Given the description of an element on the screen output the (x, y) to click on. 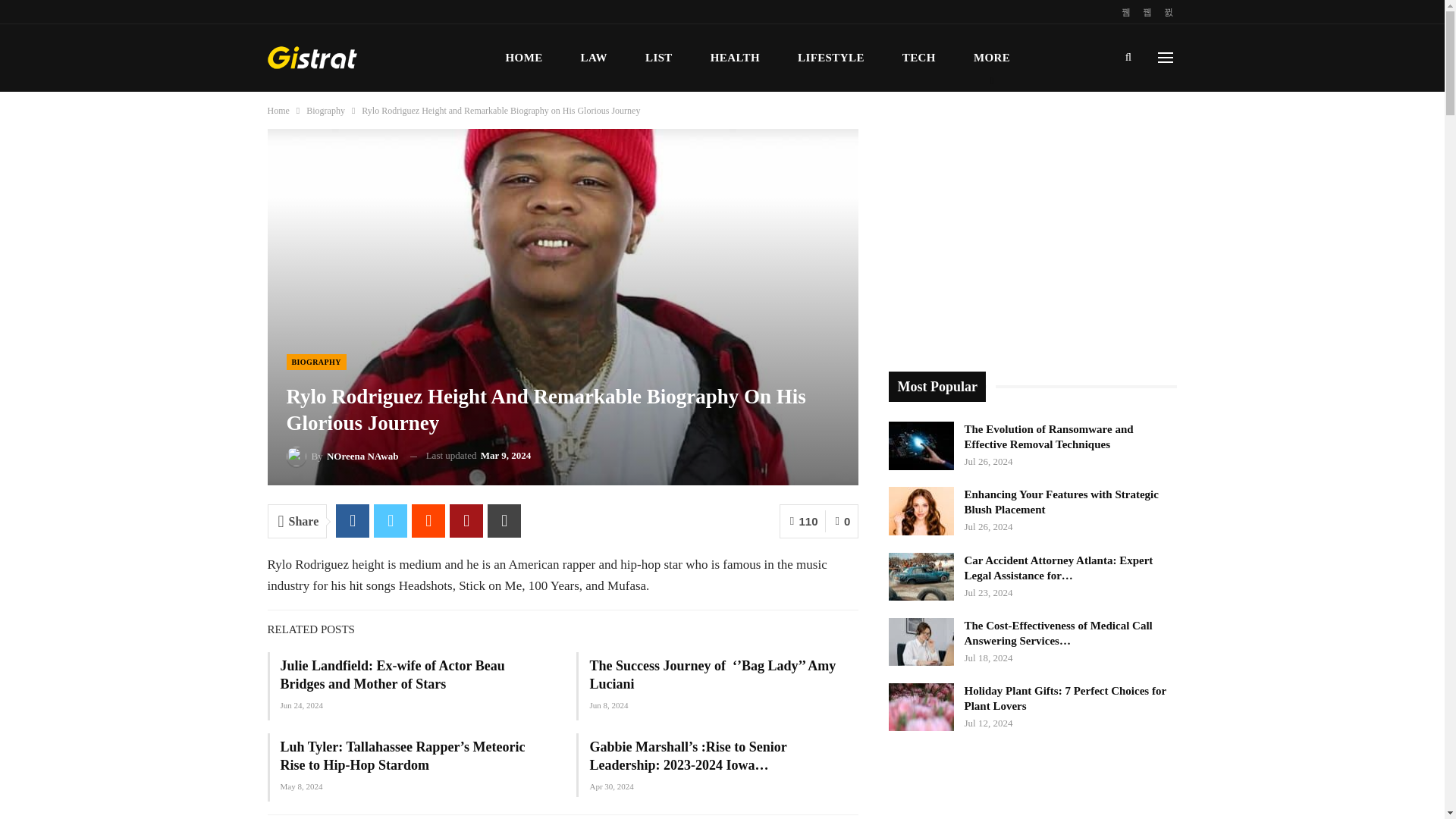
Home (277, 110)
Browse Author Articles (342, 455)
By NOreena NAwab (342, 455)
LIFESTYLE (830, 57)
0 (842, 521)
HEALTH (734, 57)
BIOGRAPHY (316, 361)
Biography (325, 110)
